Given the description of an element on the screen output the (x, y) to click on. 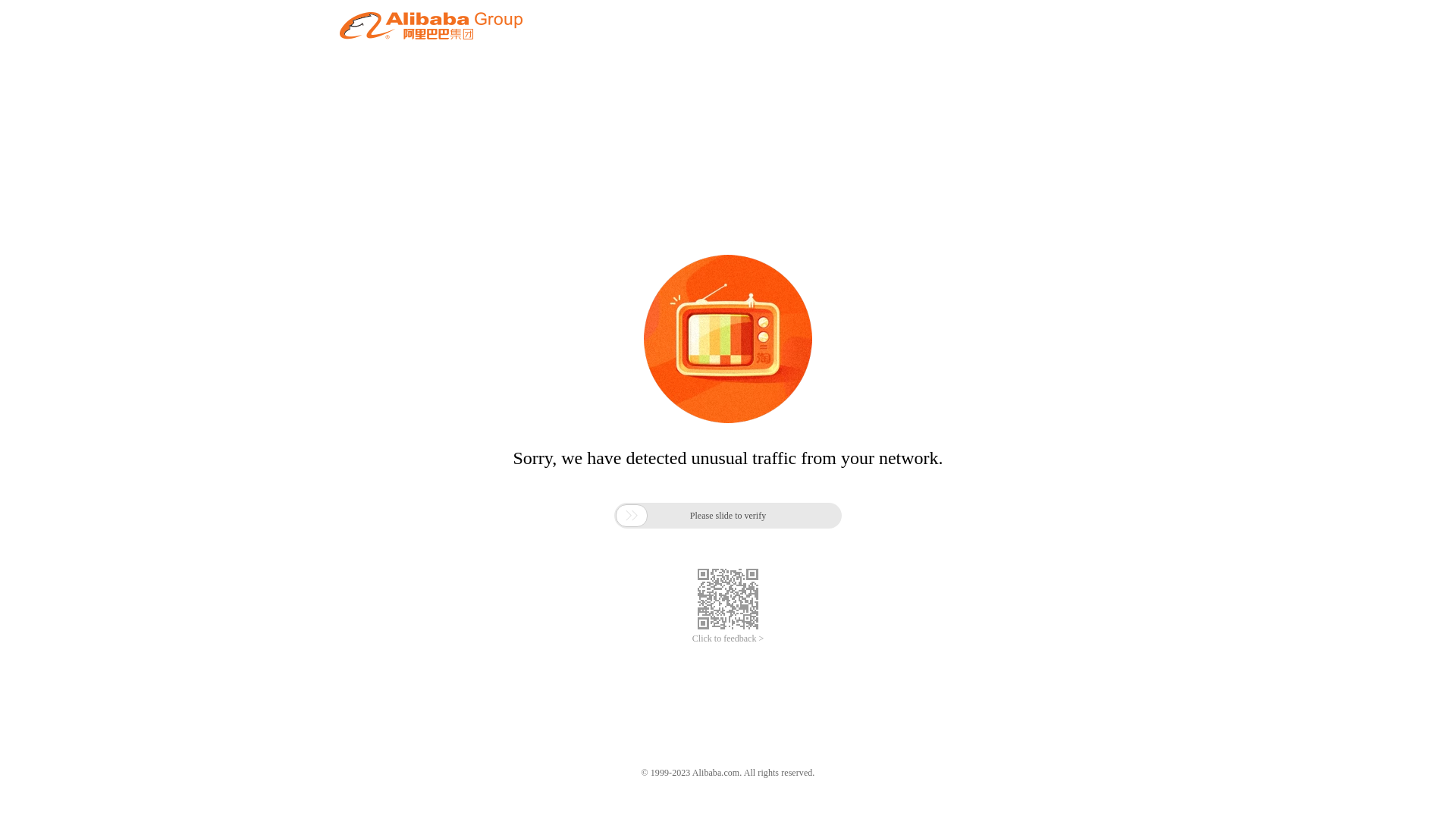
Click to feedback > Element type: text (727, 638)
